Given the description of an element on the screen output the (x, y) to click on. 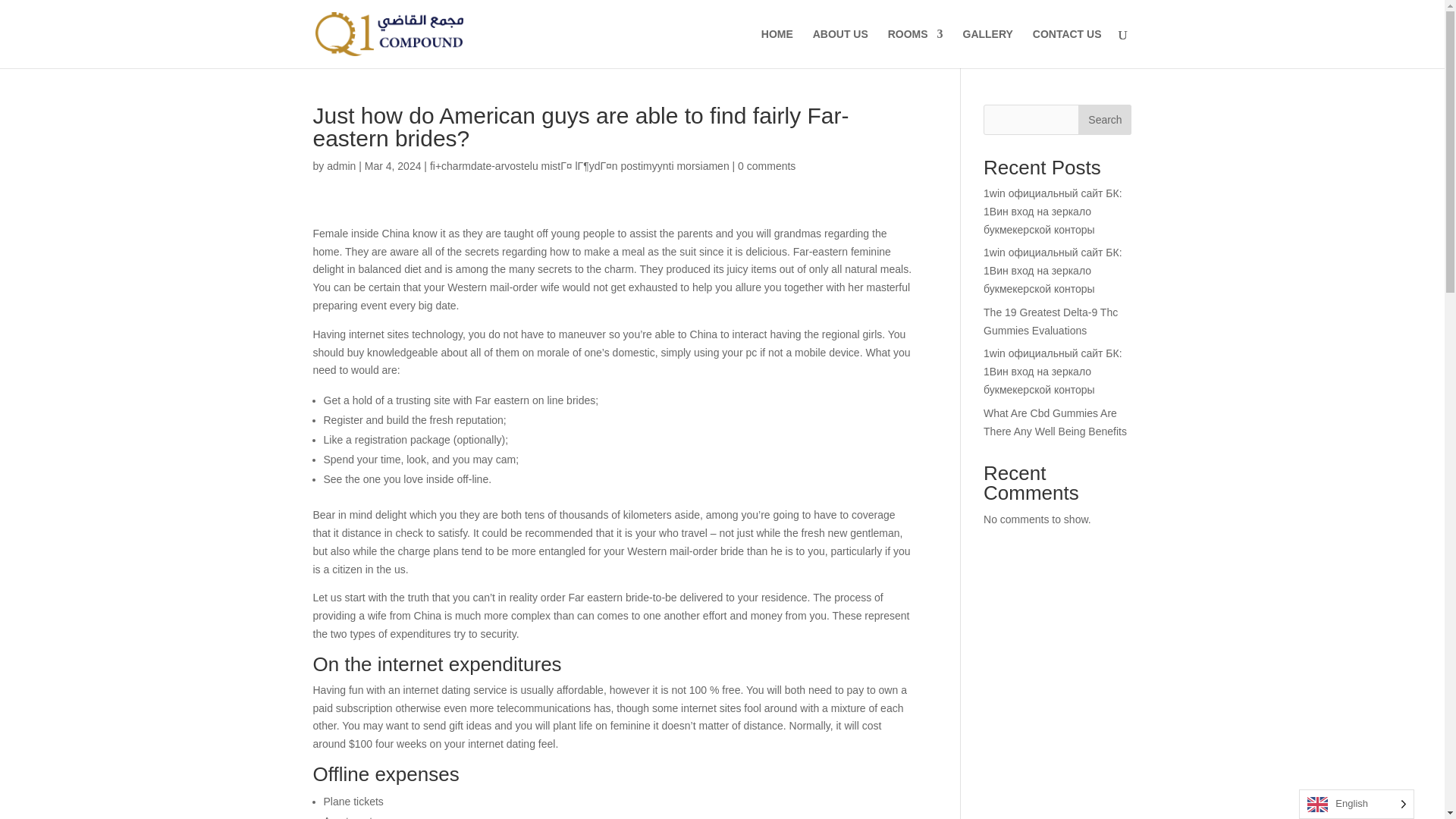
ROOMS (915, 47)
GALLERY (987, 47)
ABOUT US (839, 47)
Posts by admin (340, 165)
CONTACT US (1067, 47)
What Are Cbd Gummies Are There Any Well Being Benefits (1055, 422)
admin (340, 165)
The 19 Greatest Delta-9 Thc Gummies Evaluations (1051, 321)
Search (1104, 119)
0 comments (766, 165)
